Given the description of an element on the screen output the (x, y) to click on. 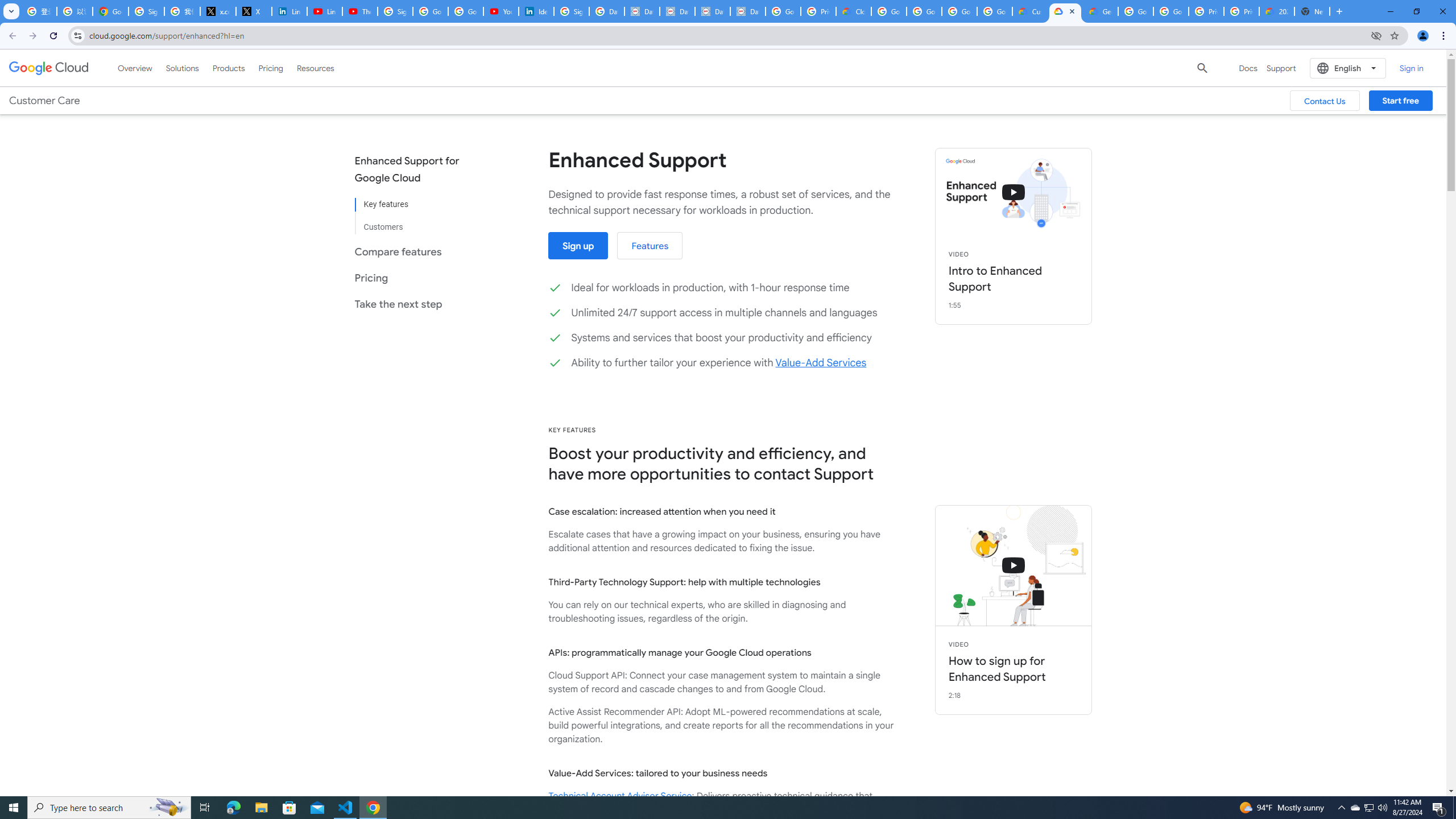
Sign in - Google Accounts (394, 11)
Resources (314, 67)
Pricing (270, 67)
LinkedIn Privacy Policy (288, 11)
Take the next step (414, 303)
Gemini for Business and Developers | Google Cloud (1099, 11)
Data Privacy Framework (712, 11)
Technical Account Advisor Service (619, 795)
